Given the description of an element on the screen output the (x, y) to click on. 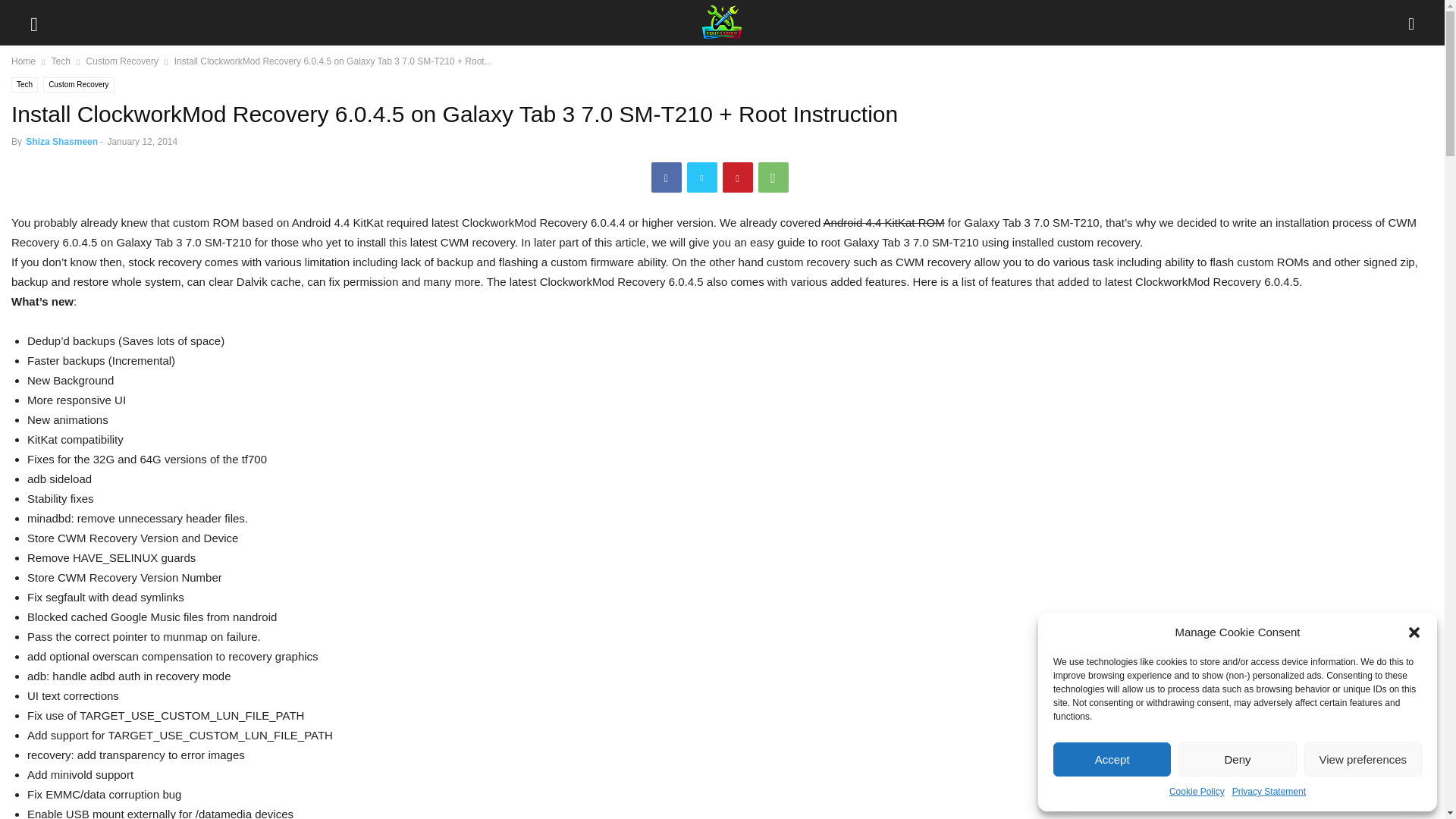
View preferences (1363, 759)
Deny (1236, 759)
Twitter (702, 177)
Search (26, 11)
View all posts in Custom Recovery (121, 61)
Privacy Statement (1268, 791)
Custom Recovery (78, 84)
Accept (1111, 759)
Tech (59, 61)
WhatsApp (773, 177)
